Given the description of an element on the screen output the (x, y) to click on. 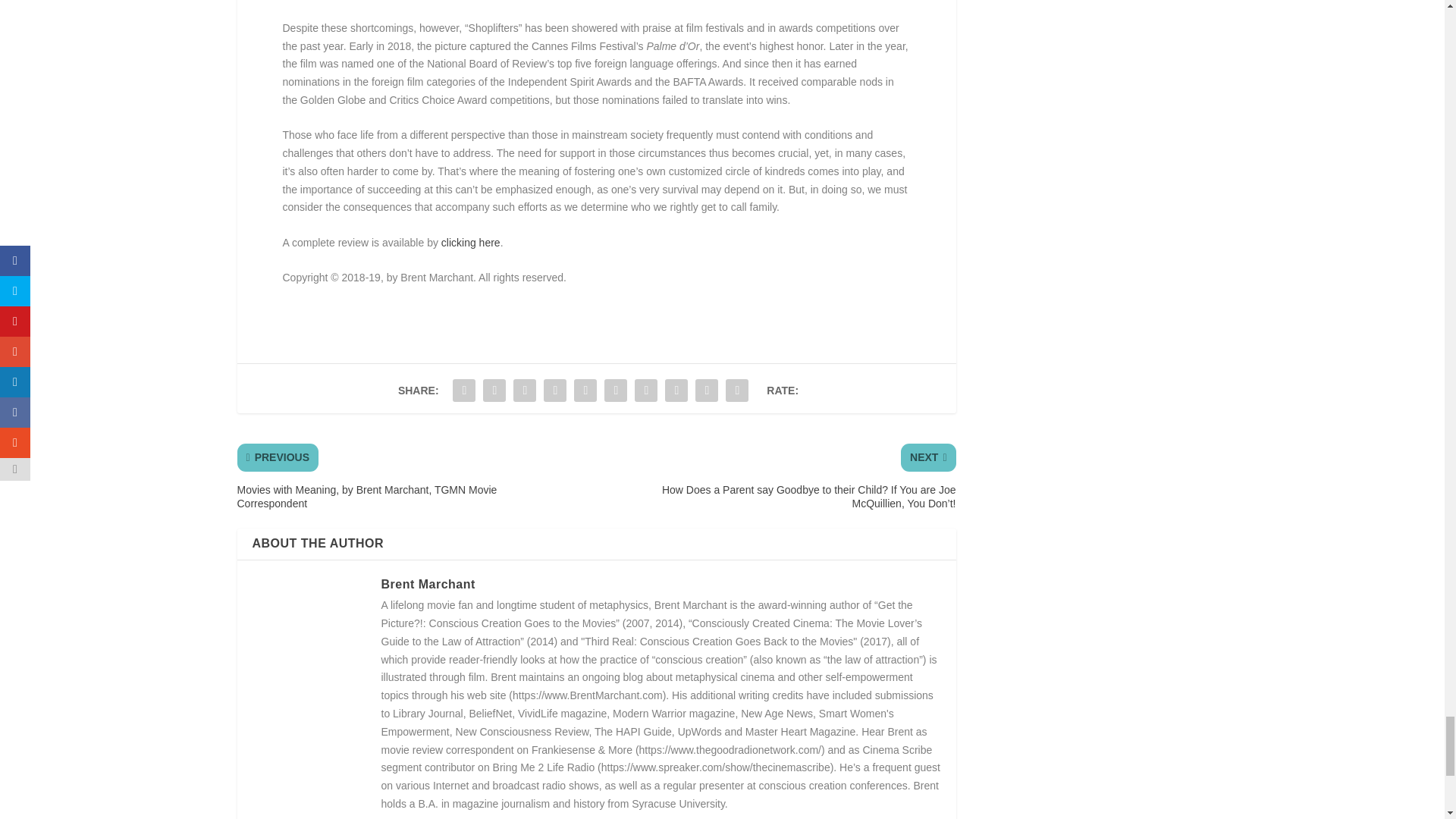
View all posts by Brent Marchant (427, 584)
